Given the description of an element on the screen output the (x, y) to click on. 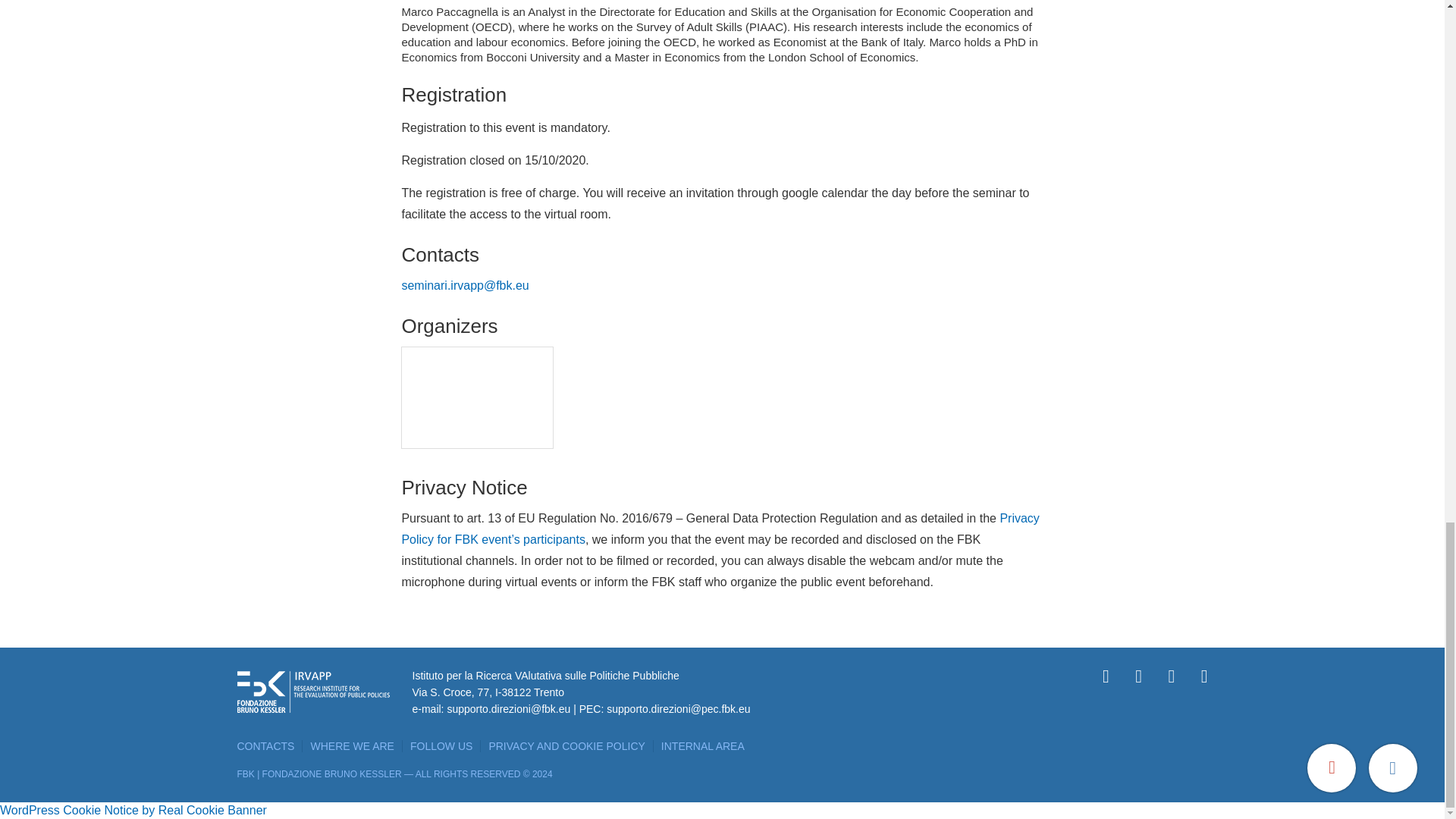
FBK-IRVAPP (477, 400)
